Given the description of an element on the screen output the (x, y) to click on. 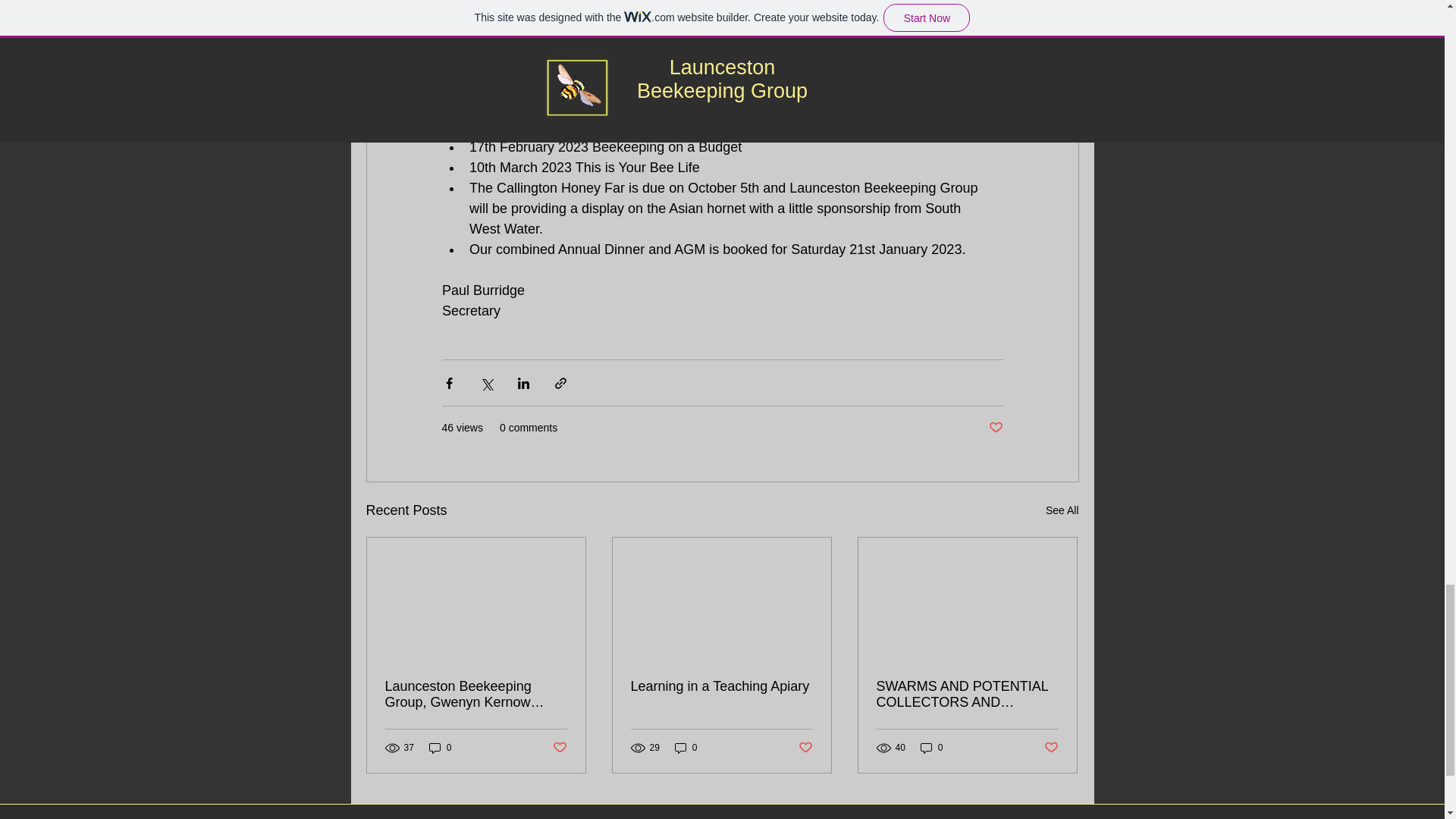
Post not marked as liked (558, 747)
SWARMS AND POTENTIAL COLLECTORS AND RECIPIENTS THEREOF (967, 694)
0 (440, 747)
0 (685, 747)
0 (931, 747)
Post not marked as liked (995, 427)
See All (1061, 510)
Learning in a Teaching Apiary (721, 686)
Launceston Beekeeping Group, Gwenyn Kernow August 2022 (476, 694)
Post not marked as liked (1050, 747)
Post not marked as liked (804, 747)
